Given the description of an element on the screen output the (x, y) to click on. 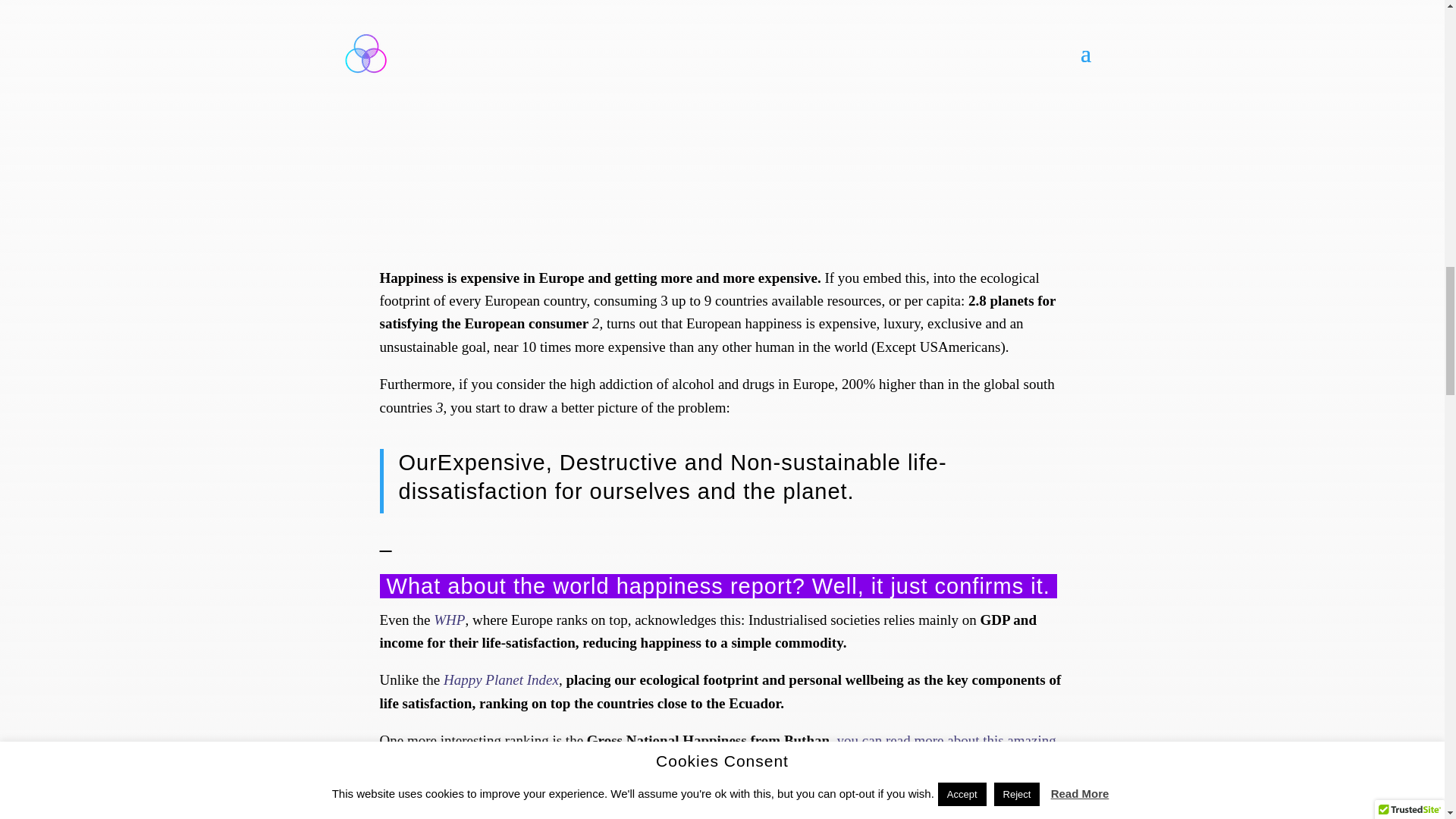
Happy Planet Index (501, 679)
WHP (448, 619)
